Given the description of an element on the screen output the (x, y) to click on. 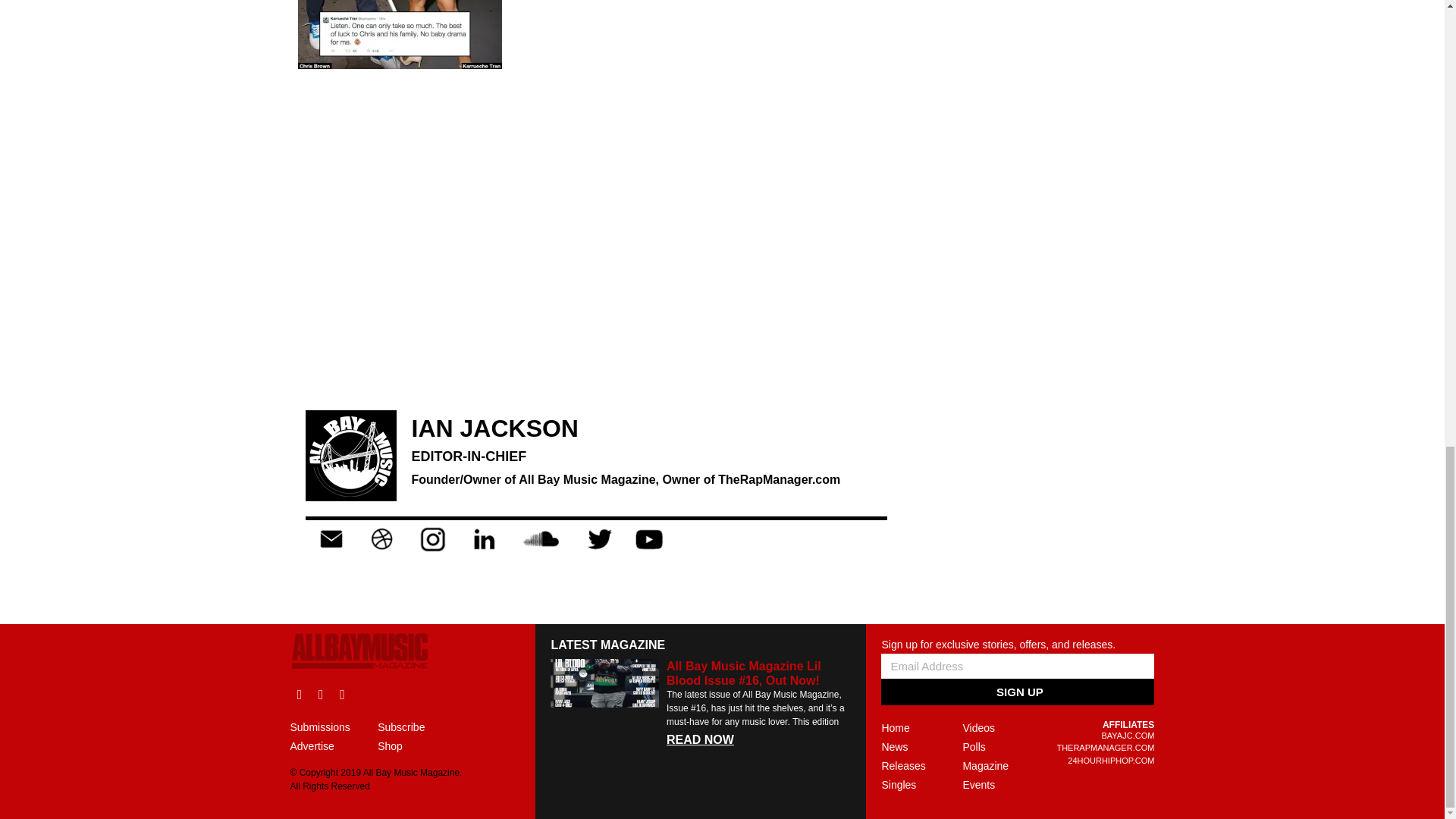
Submissions (333, 727)
Facebook Cross Domain Communication Frame (596, 291)
Facebook Cross Domain Communication Frame (596, 172)
